Given the description of an element on the screen output the (x, y) to click on. 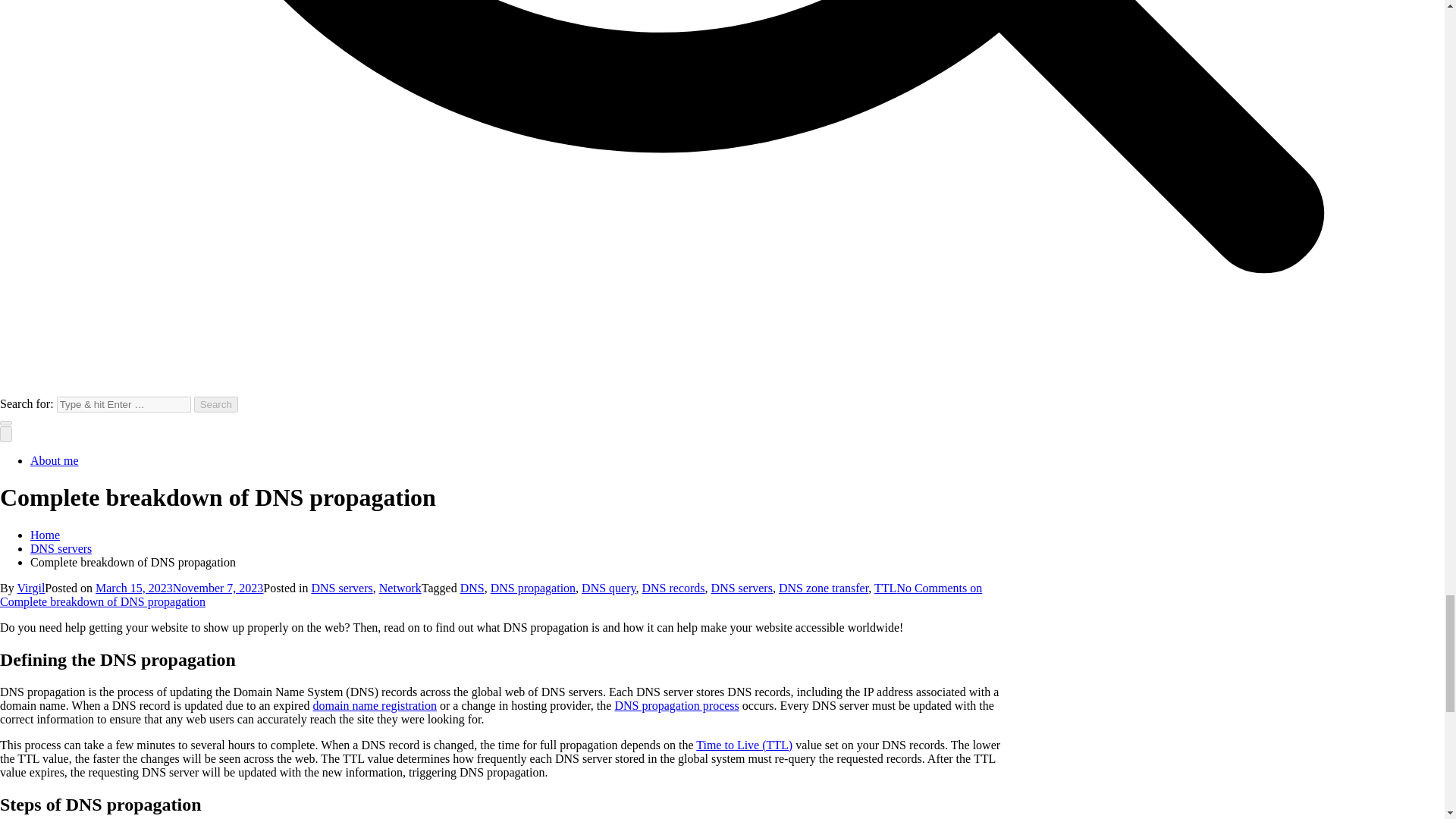
Virgil (30, 587)
DNS query (607, 587)
Home (44, 534)
DNS propagation (532, 587)
Search (215, 404)
DNS servers (341, 587)
DNS servers (742, 587)
DNS zone transfer (822, 587)
About me (54, 460)
Search for: (123, 404)
March 15, 2023November 7, 2023 (179, 587)
Network (400, 587)
Search (215, 404)
domain name registration (374, 705)
DNS records (673, 587)
